Given the description of an element on the screen output the (x, y) to click on. 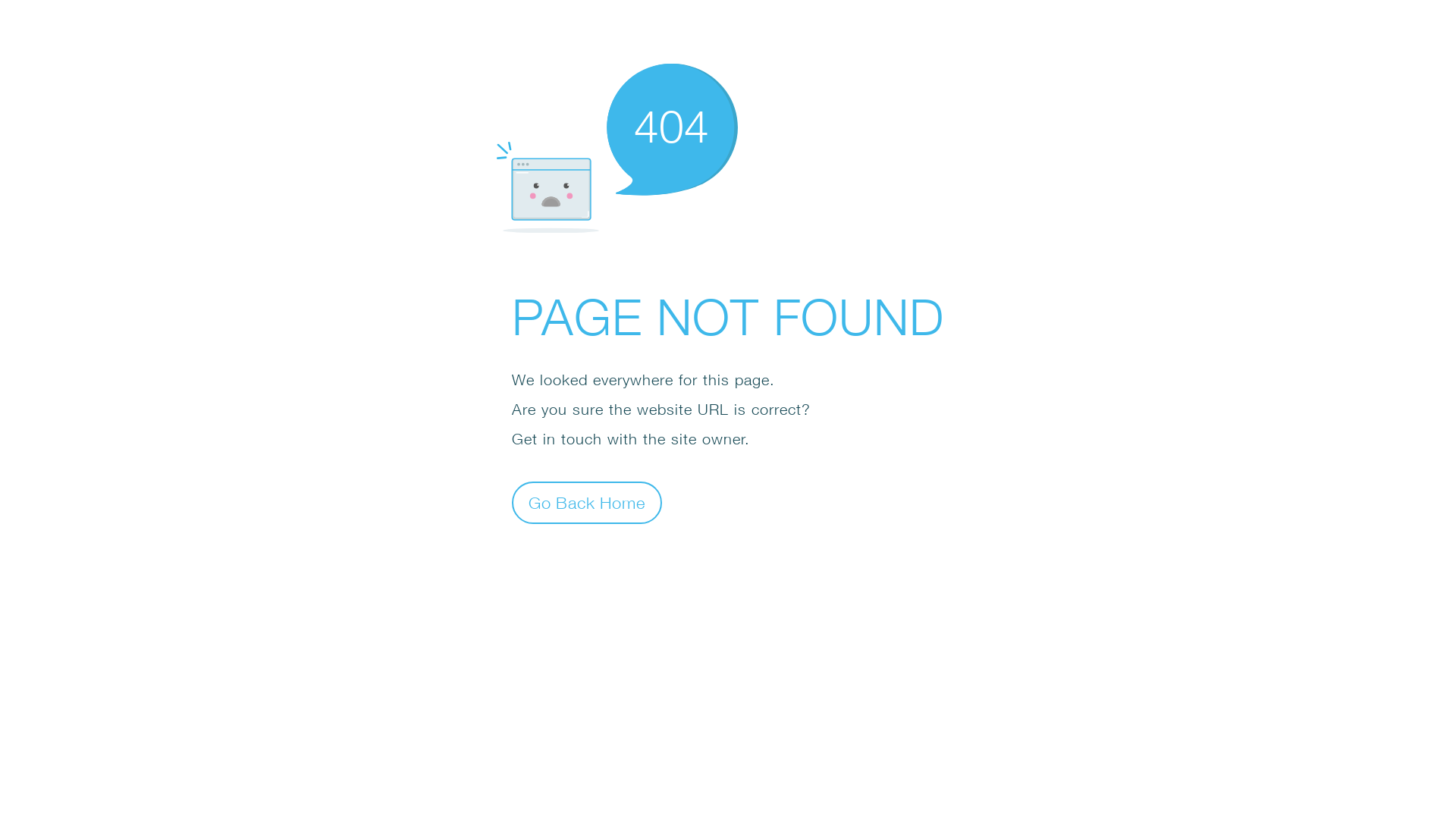
Go Back Home Element type: text (586, 502)
